Given the description of an element on the screen output the (x, y) to click on. 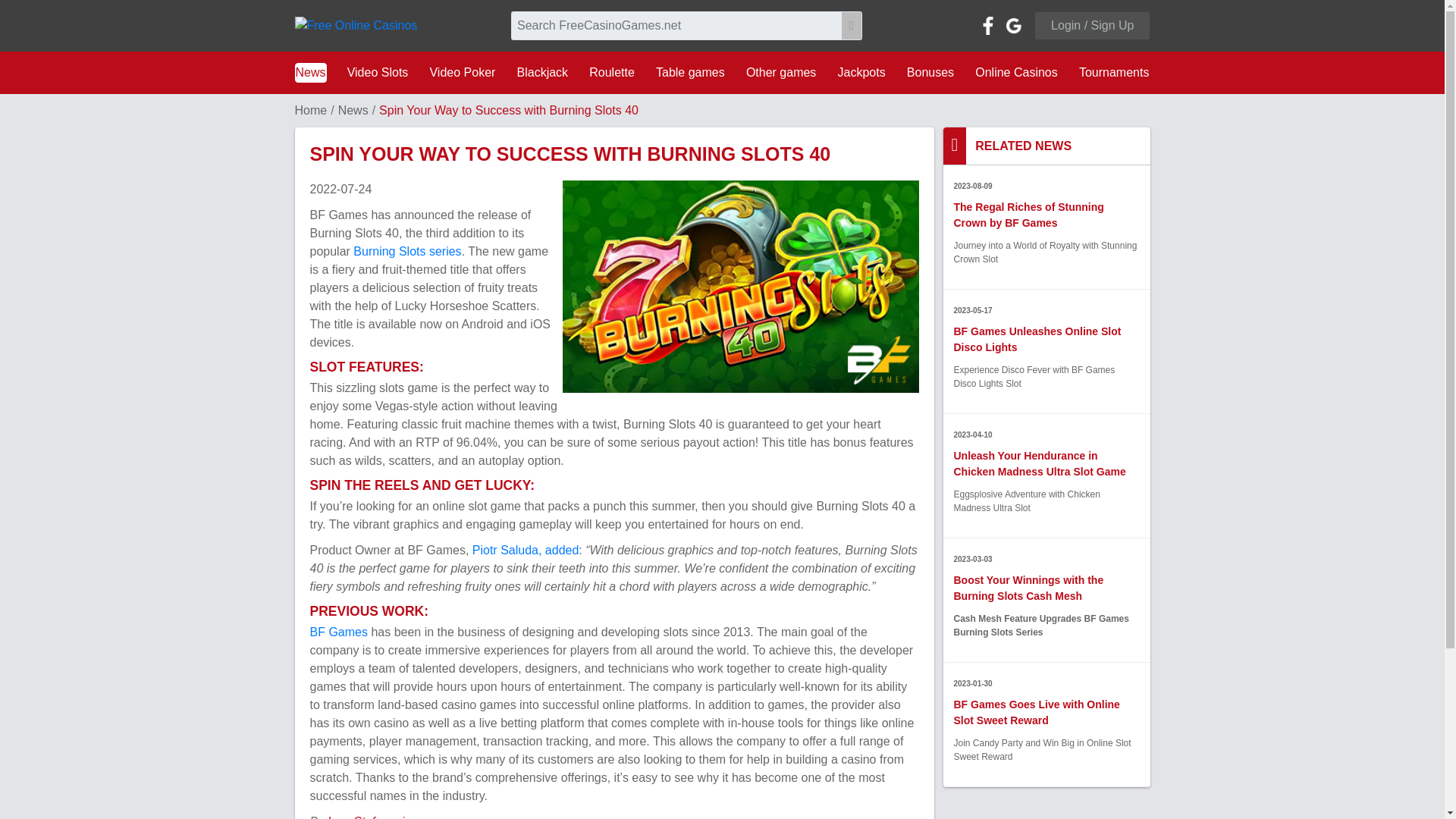
Home (310, 110)
Video Poker (462, 72)
Spin Your Way to Success with Burning Slots 40 (740, 286)
News (310, 72)
Blackjack (542, 72)
Tournaments (1114, 72)
Bonuses (930, 72)
Jackpots (861, 72)
Roulette (611, 72)
Other games (780, 72)
